Given the description of an element on the screen output the (x, y) to click on. 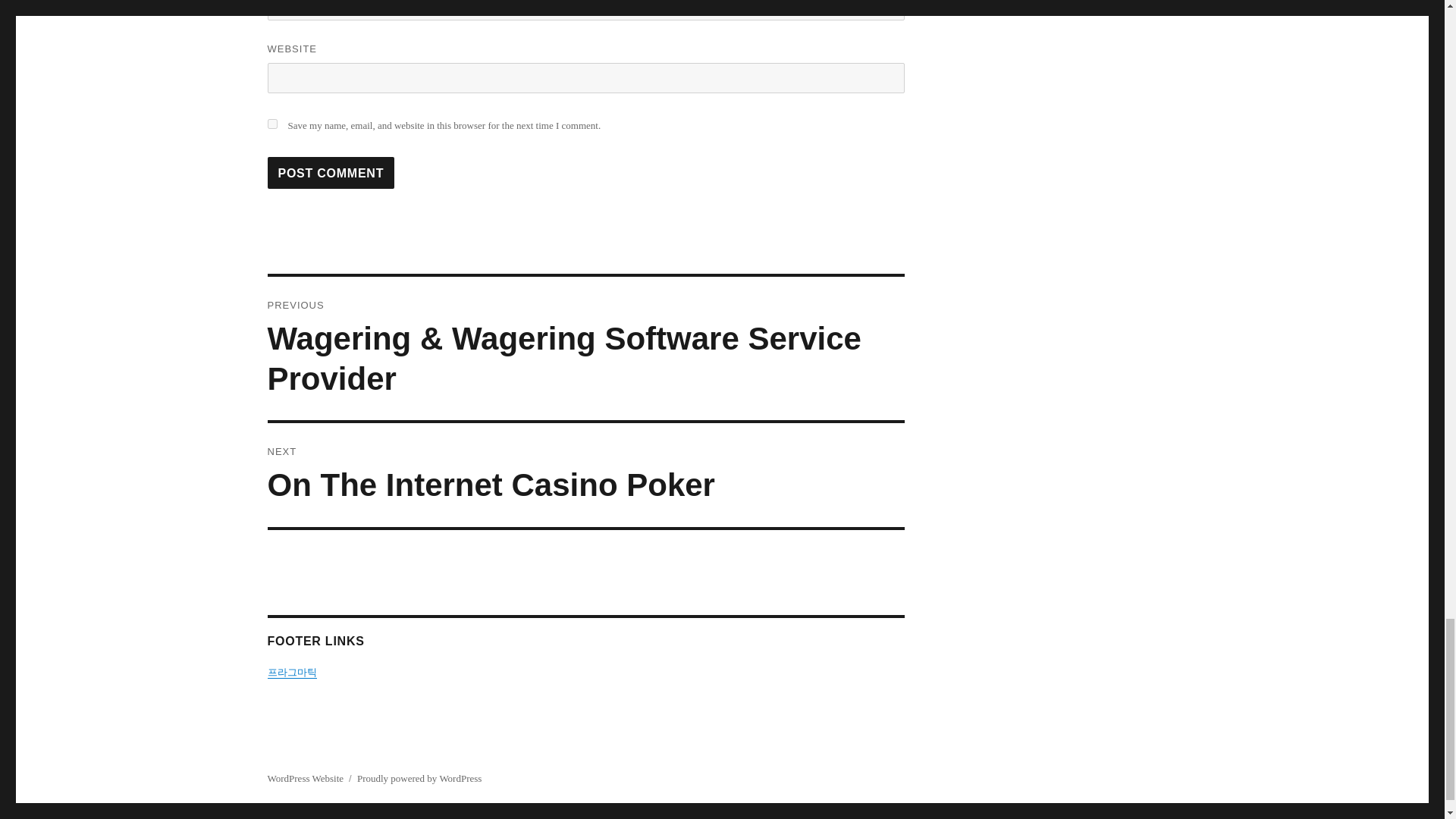
yes (271, 123)
Post Comment (330, 173)
WordPress Website (585, 474)
Post Comment (304, 778)
